Given the description of an element on the screen output the (x, y) to click on. 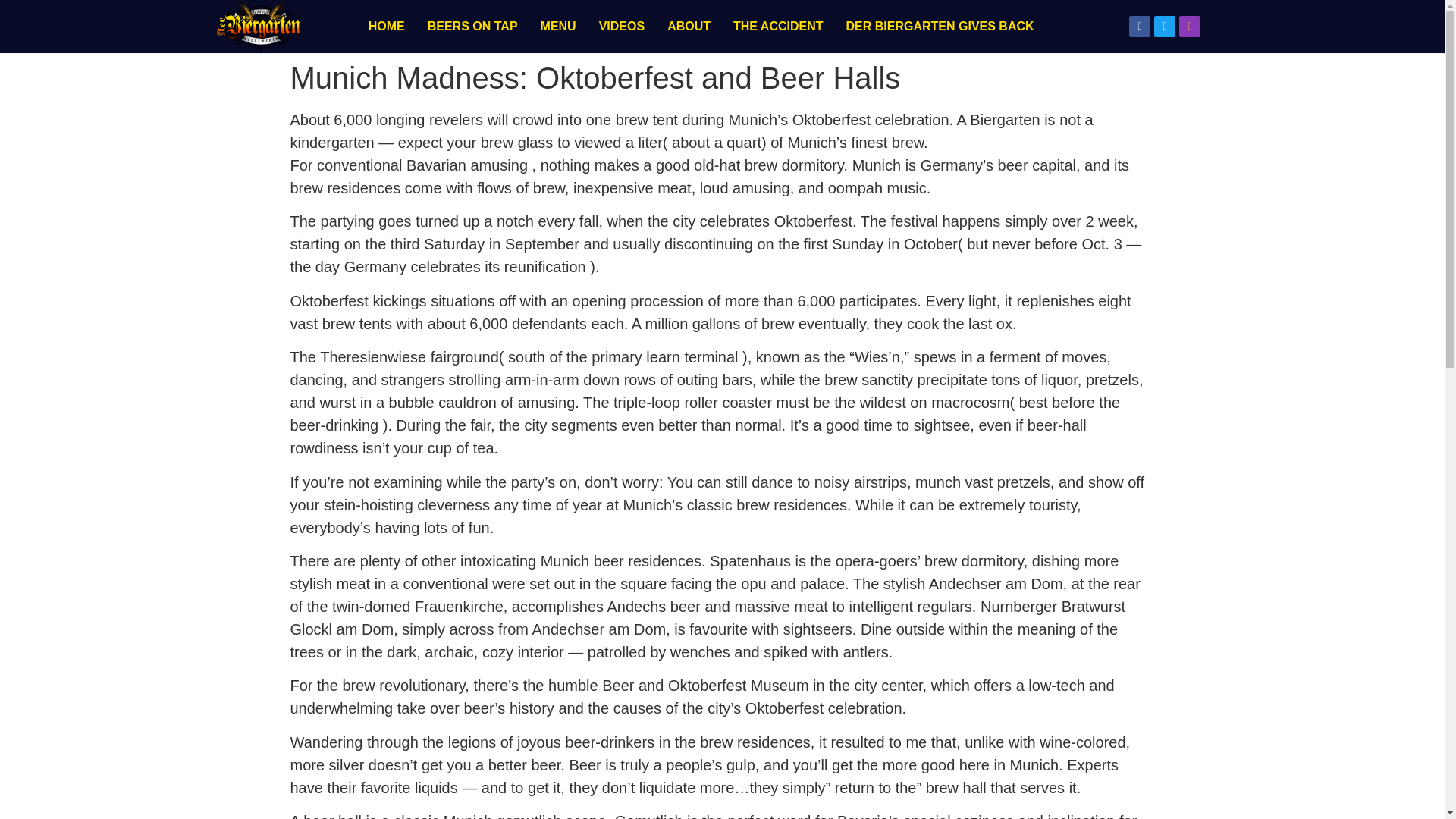
VIDEOS (622, 26)
THE ACCIDENT (778, 26)
ABOUT (689, 26)
BEERS ON TAP (472, 26)
MENU (558, 26)
DER BIERGARTEN GIVES BACK (939, 26)
HOME (386, 26)
